Given the description of an element on the screen output the (x, y) to click on. 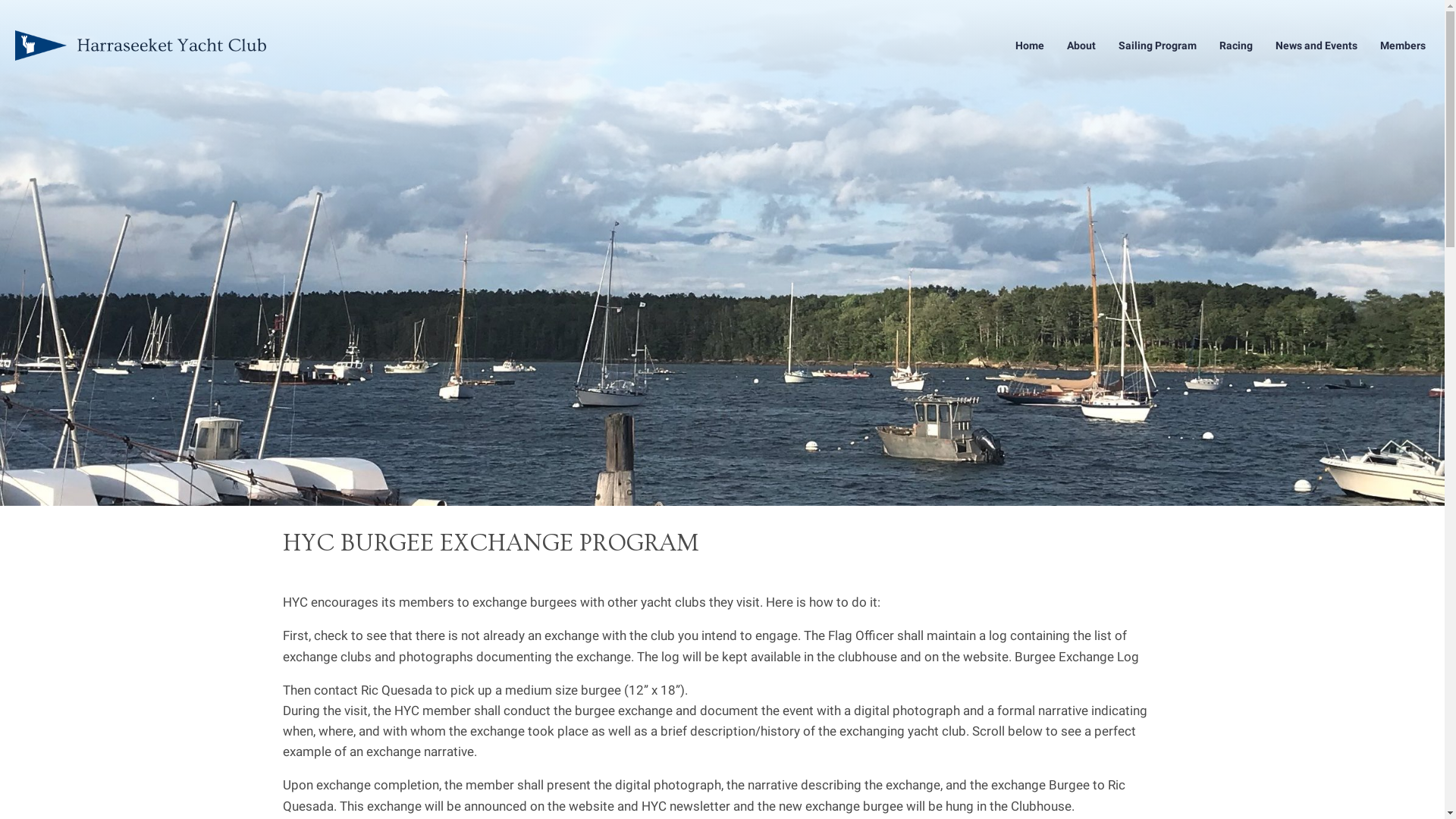
Home Element type: text (1029, 45)
Members Element type: text (1402, 45)
About Element type: text (1081, 45)
Racing Element type: text (1236, 45)
News and Events Element type: text (1316, 45)
Sailing Program Element type: text (1157, 45)
